Given the description of an element on the screen output the (x, y) to click on. 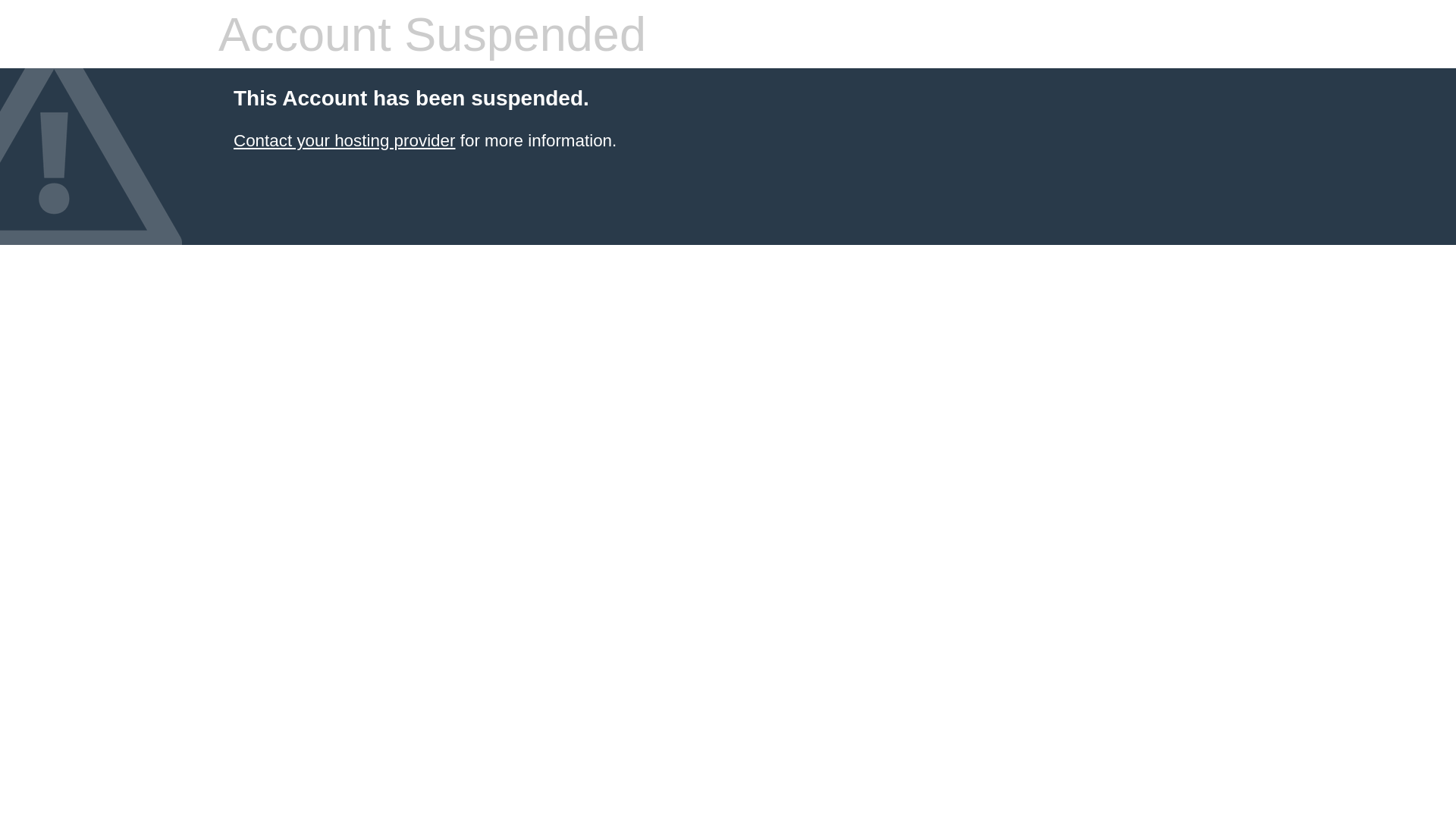
Contact your hosting provider Element type: text (344, 140)
